Given the description of an element on the screen output the (x, y) to click on. 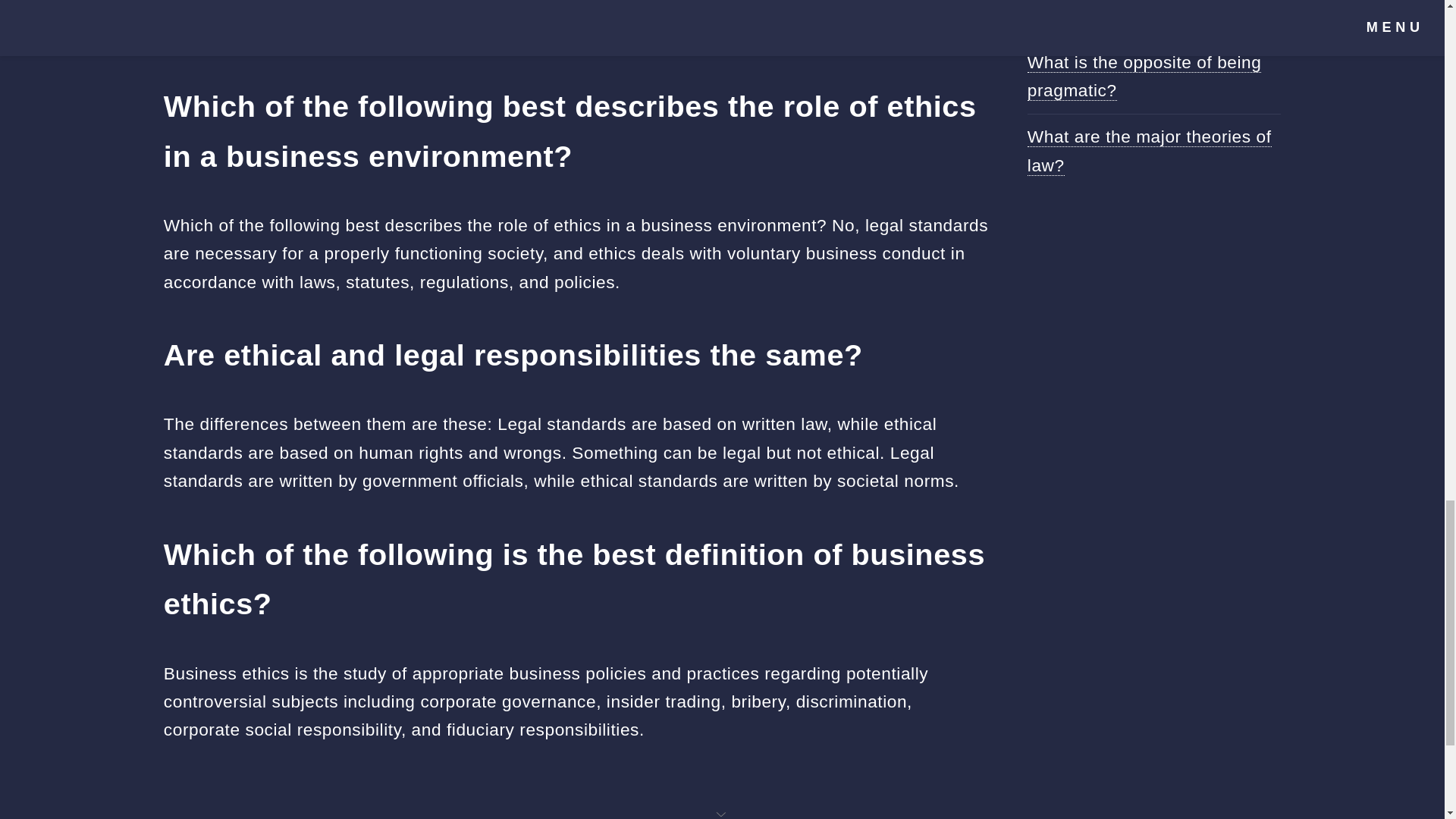
What are the major theories of law? (1149, 150)
How do you cite the Stanford Encyclopedia of Philosophy? (1143, 12)
What is the opposite of being pragmatic? (1144, 76)
